Given the description of an element on the screen output the (x, y) to click on. 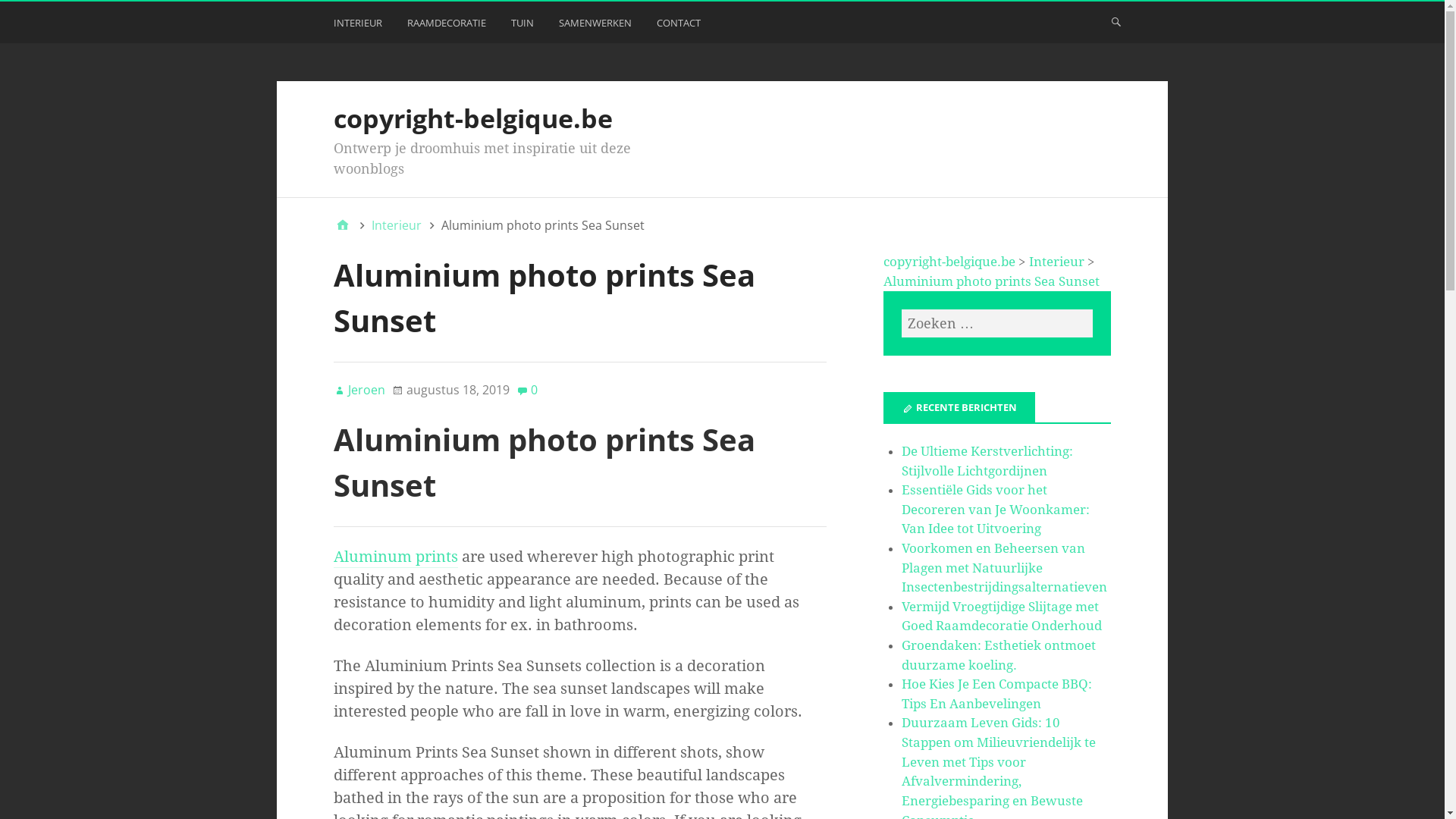
Groendaken: Esthetiek ontmoet duurzame koeling. Element type: text (998, 654)
Aluminium photo prints Sea Sunset Element type: text (991, 280)
Zoeken Element type: text (31, 16)
Interieur Element type: text (396, 225)
copyright-belgique.be Element type: text (472, 117)
copyright-belgique.be Element type: text (949, 261)
Interieur Element type: text (1056, 261)
INTERIEUR Element type: text (359, 26)
De Ultieme Kerstverlichting: Stijlvolle Lichtgordijnen Element type: text (987, 460)
RAAMDECORATIE Element type: text (448, 26)
SAMENWERKEN Element type: text (596, 26)
CONTACT Element type: text (680, 26)
Hoe Kies Je Een Compacte BBQ: Tips En Aanbevelingen Element type: text (996, 693)
Aluminum prints Element type: text (395, 557)
Jeroen Element type: text (359, 389)
TUIN Element type: text (524, 26)
0 Element type: text (526, 389)
